Given the description of an element on the screen output the (x, y) to click on. 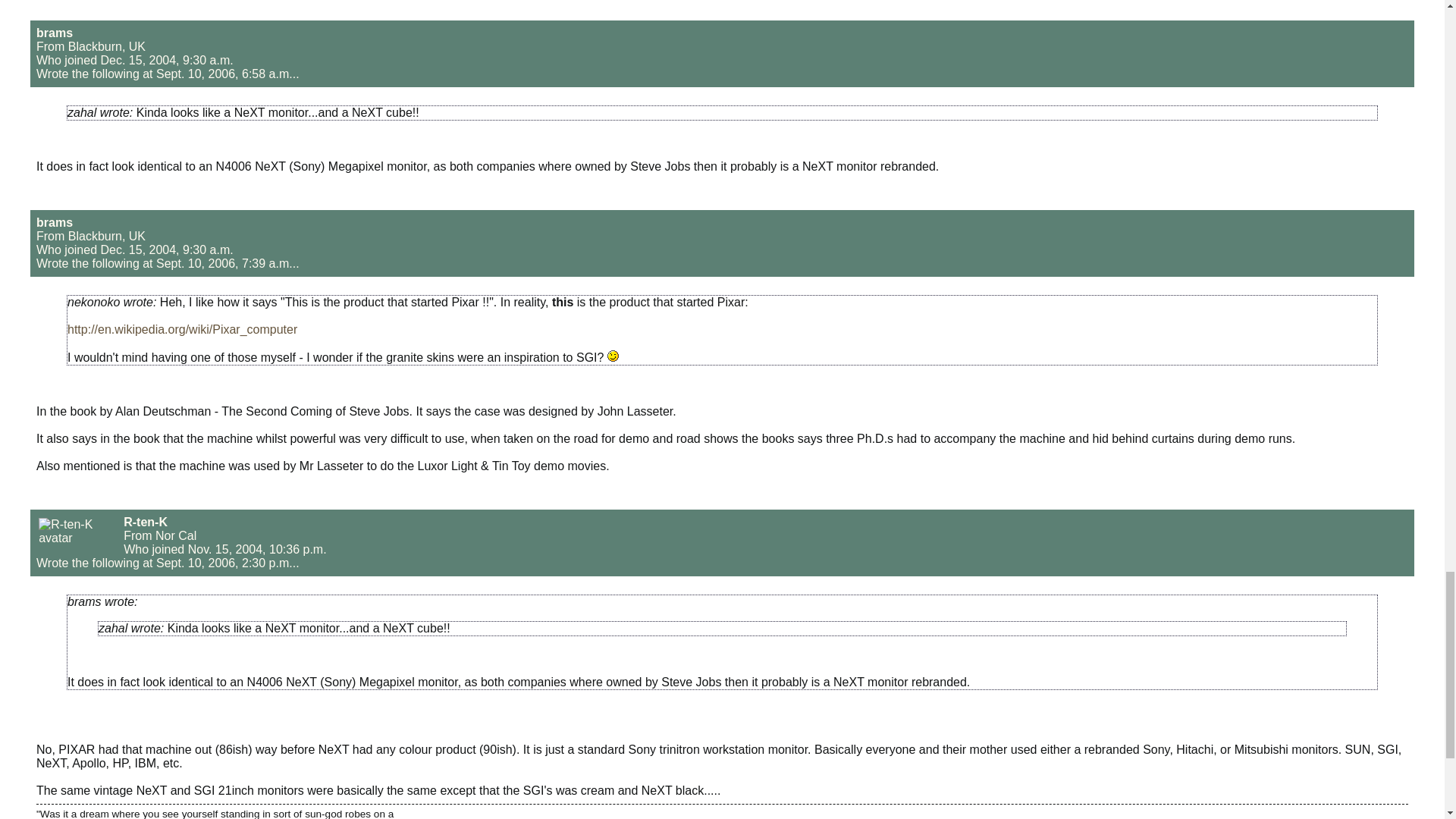
brams (54, 222)
R-ten-K (145, 521)
brams (54, 32)
Wink (612, 355)
